Given the description of an element on the screen output the (x, y) to click on. 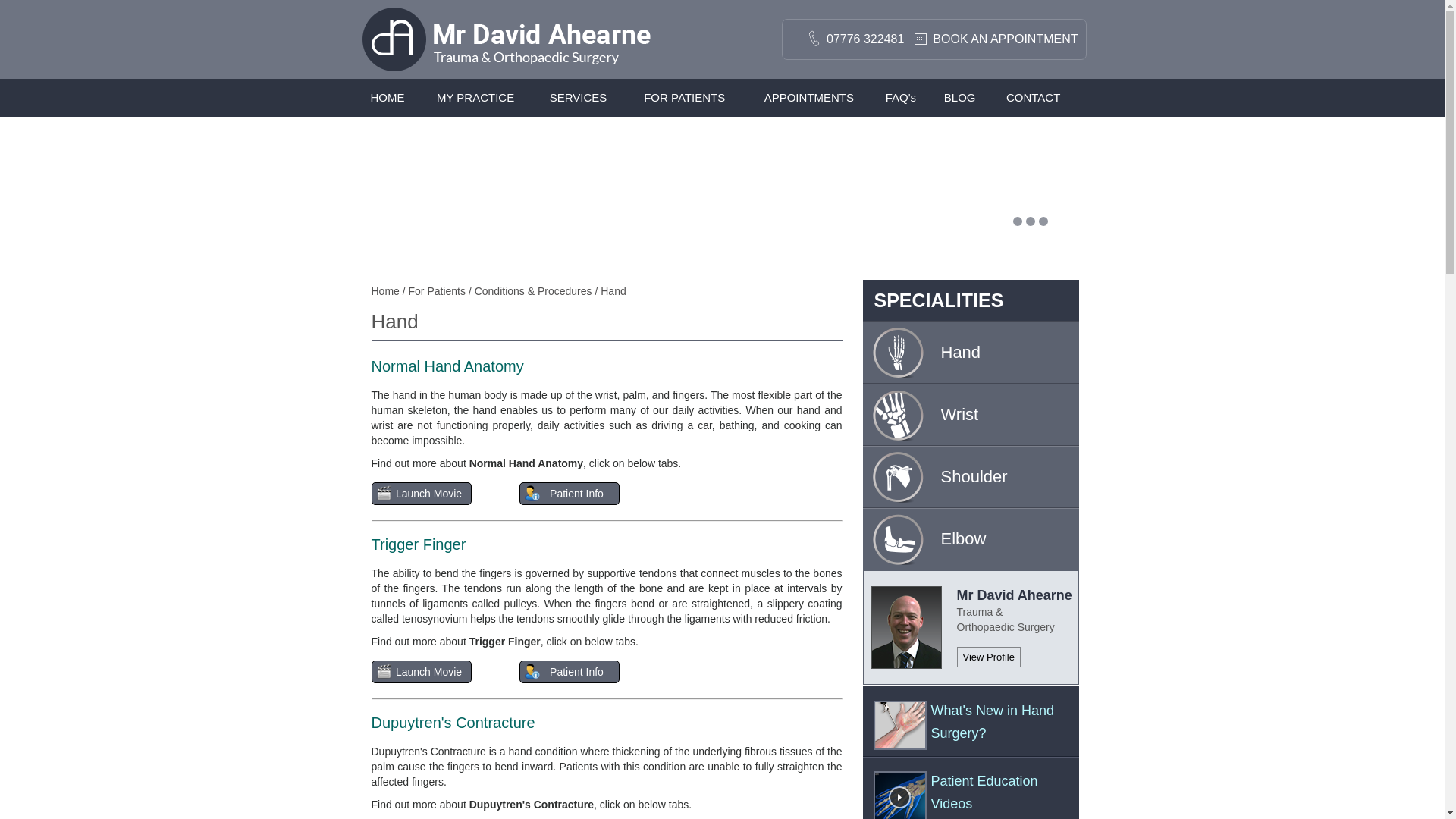
SERVICES (577, 97)
APPOINTMENTS (808, 97)
07776 322481 (859, 38)
BLOG (959, 97)
For Patients (438, 291)
HOME (387, 97)
Home (384, 291)
CONTACT (1033, 97)
Launch Movie (421, 493)
BOOK AN APPOINTMENT (999, 38)
